Given the description of an element on the screen output the (x, y) to click on. 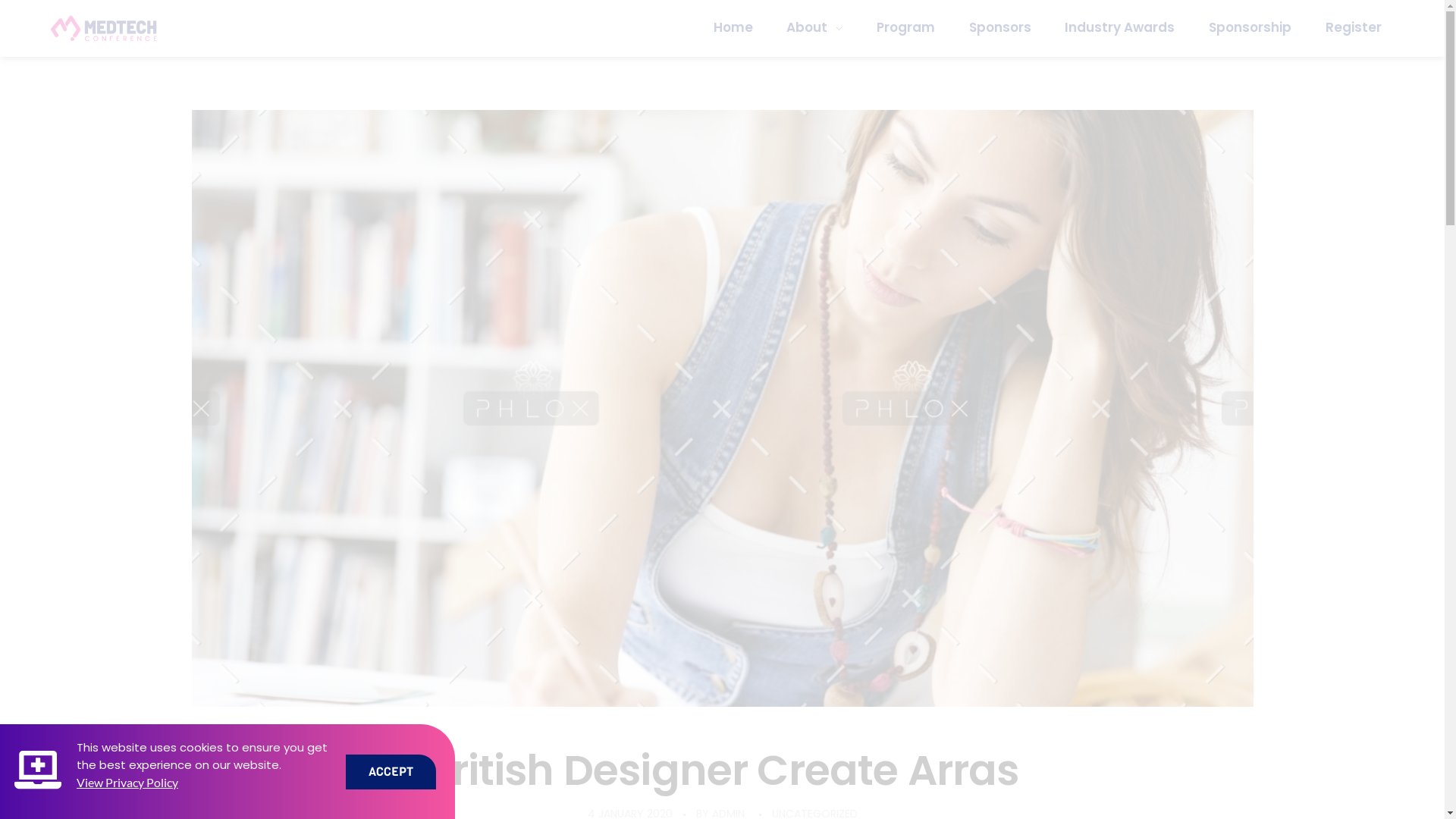
View Privacy Policy Element type: text (127, 782)
About Element type: text (814, 26)
Industry Awards Element type: text (1120, 26)
Register Element type: text (1344, 26)
Sponsorship Element type: text (1250, 26)
ACCEPT Element type: text (390, 770)
Home Element type: text (741, 26)
Program Element type: text (905, 26)
Sponsors Element type: text (999, 26)
